Given the description of an element on the screen output the (x, y) to click on. 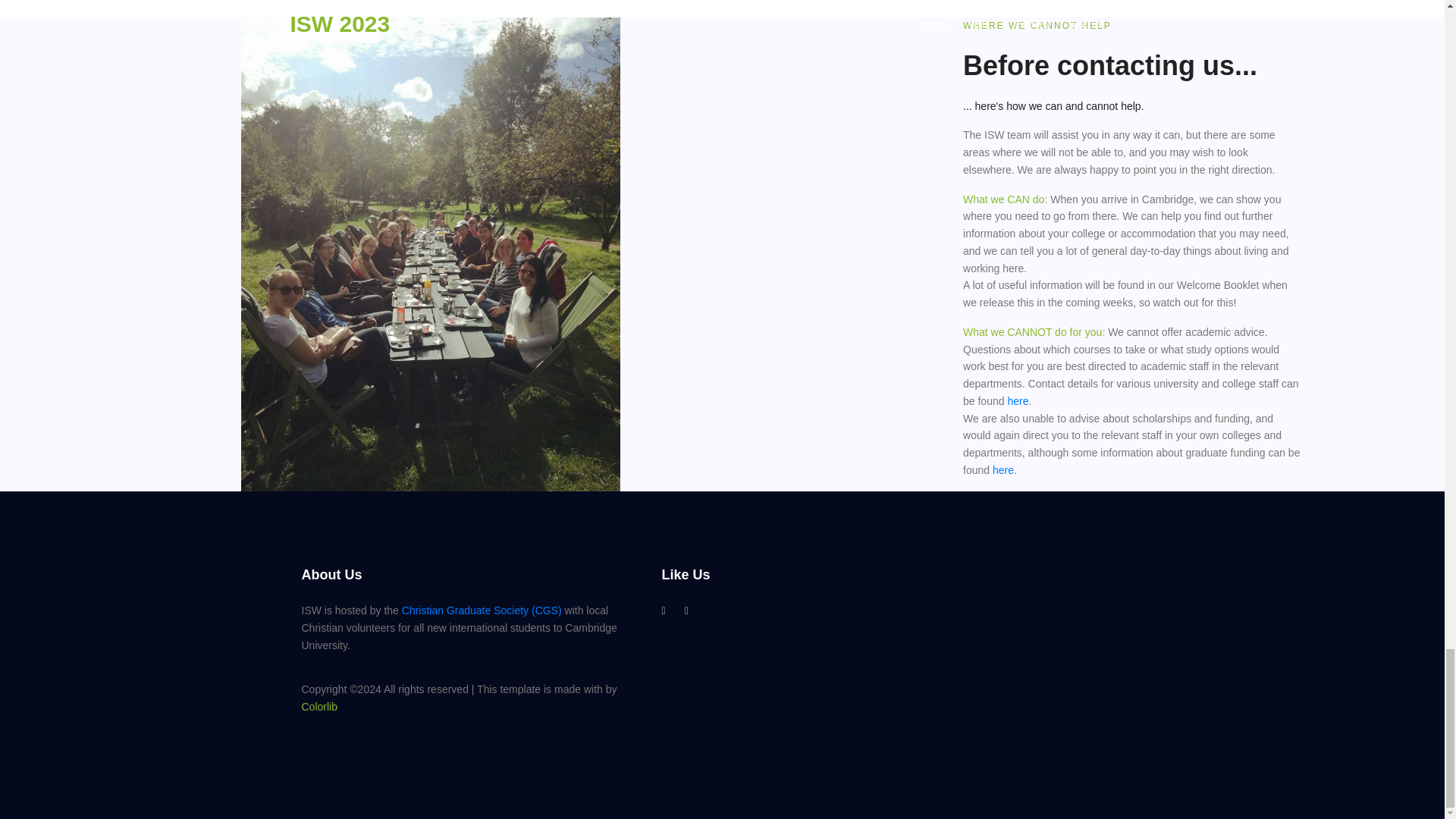
here (1002, 469)
here (1017, 400)
Colorlib (319, 706)
